Given the description of an element on the screen output the (x, y) to click on. 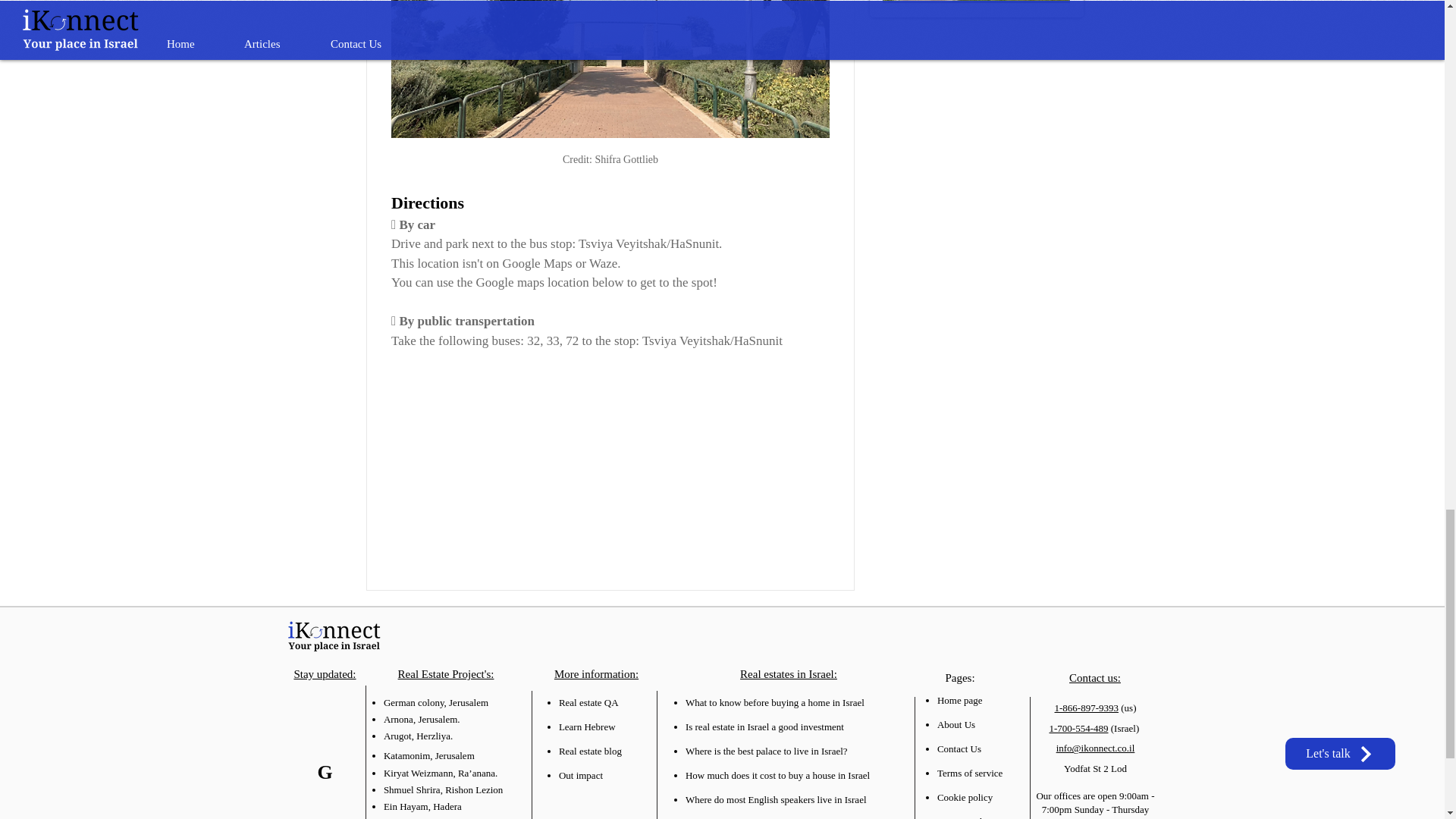
What to know before buying a home in Israel (774, 702)
Real estate QA (588, 702)
More information: (596, 674)
Arnona, Jerusalem. (422, 718)
Stay updated: (324, 674)
How much does it cost to buy a house in Israel (777, 775)
Shmuel Shrira, Rishon Lezion (443, 789)
German colony, Jerusalem (435, 702)
Arugot, Herzliya. (418, 736)
